Given the description of an element on the screen output the (x, y) to click on. 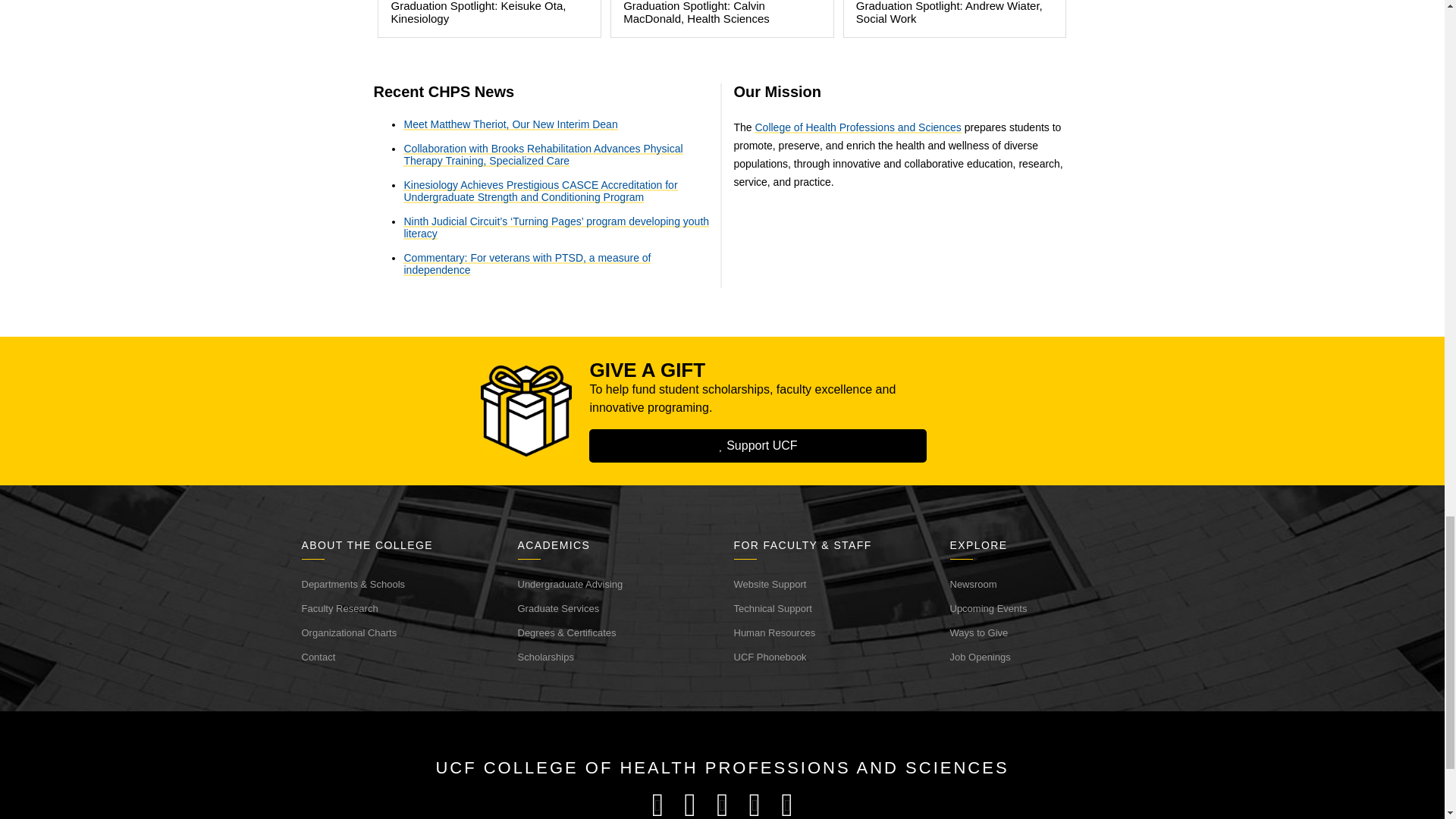
Watch UCF CHPS On YouTube (754, 804)
Graduation Spotlight: Keisuke Ota, Kinesiology (489, 18)
Graduation Spotlight: Calvin MacDonald, Health Sciences (722, 18)
Join UCF CHPS On LinkedIn (786, 804)
Meet Matthew Theriot, Our New Interim Dean (510, 123)
Follow UCF CHPS On Facebook (658, 804)
Follow UCF CHPS On Twitter (690, 804)
Follow UCF CHPS On Instagram (722, 804)
Graduation Spotlight: Andrew Wiater, Social Work (955, 18)
